Given the description of an element on the screen output the (x, y) to click on. 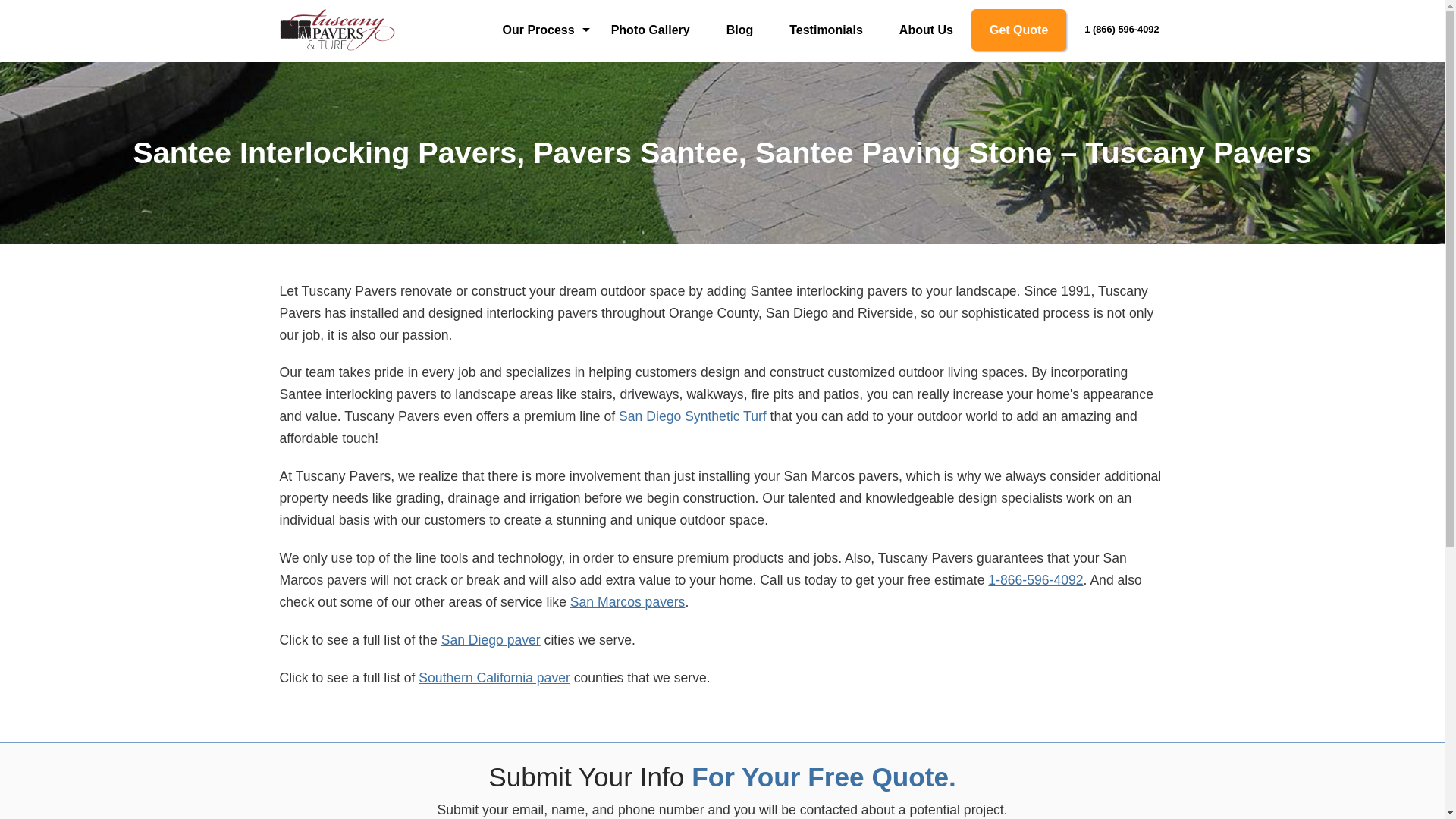
San Marcos pavers (627, 601)
San Diego paver (490, 639)
Testimonials (825, 29)
Get Quote (1018, 29)
Our Process (537, 29)
Blog (739, 29)
1-866-596-4092 (1035, 580)
Photo Gallery (649, 29)
Southern California paver (494, 677)
About Us (925, 29)
